Given the description of an element on the screen output the (x, y) to click on. 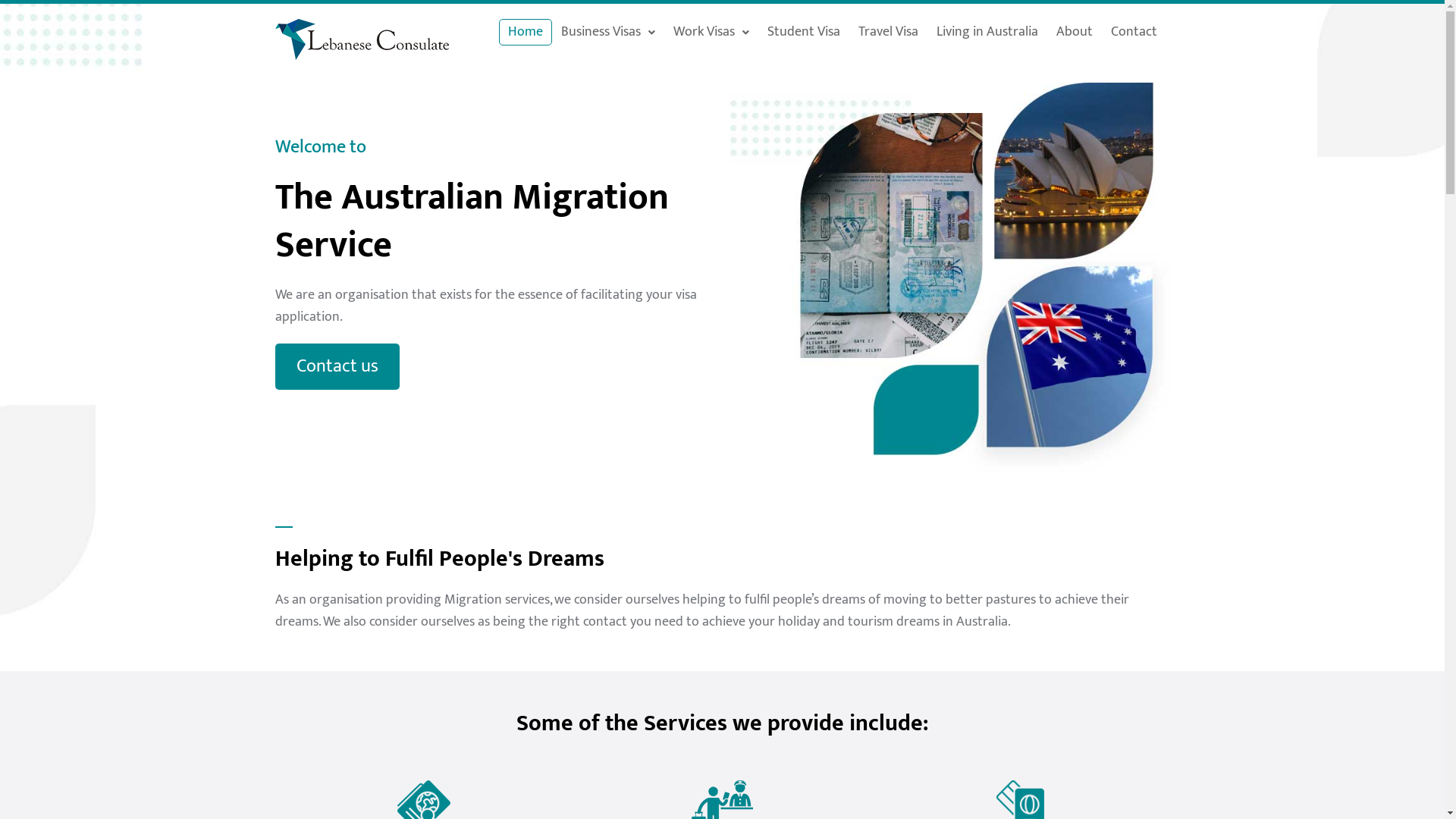
About Element type: text (1074, 31)
Living in Australia Element type: text (987, 31)
Contact us Element type: text (336, 366)
Student Visa Element type: text (803, 31)
Business Visas Element type: text (608, 31)
Home Element type: text (525, 31)
Work Visas Element type: text (711, 31)
Travel Visa Element type: text (888, 31)
Contact Element type: text (1133, 31)
